Given the description of an element on the screen output the (x, y) to click on. 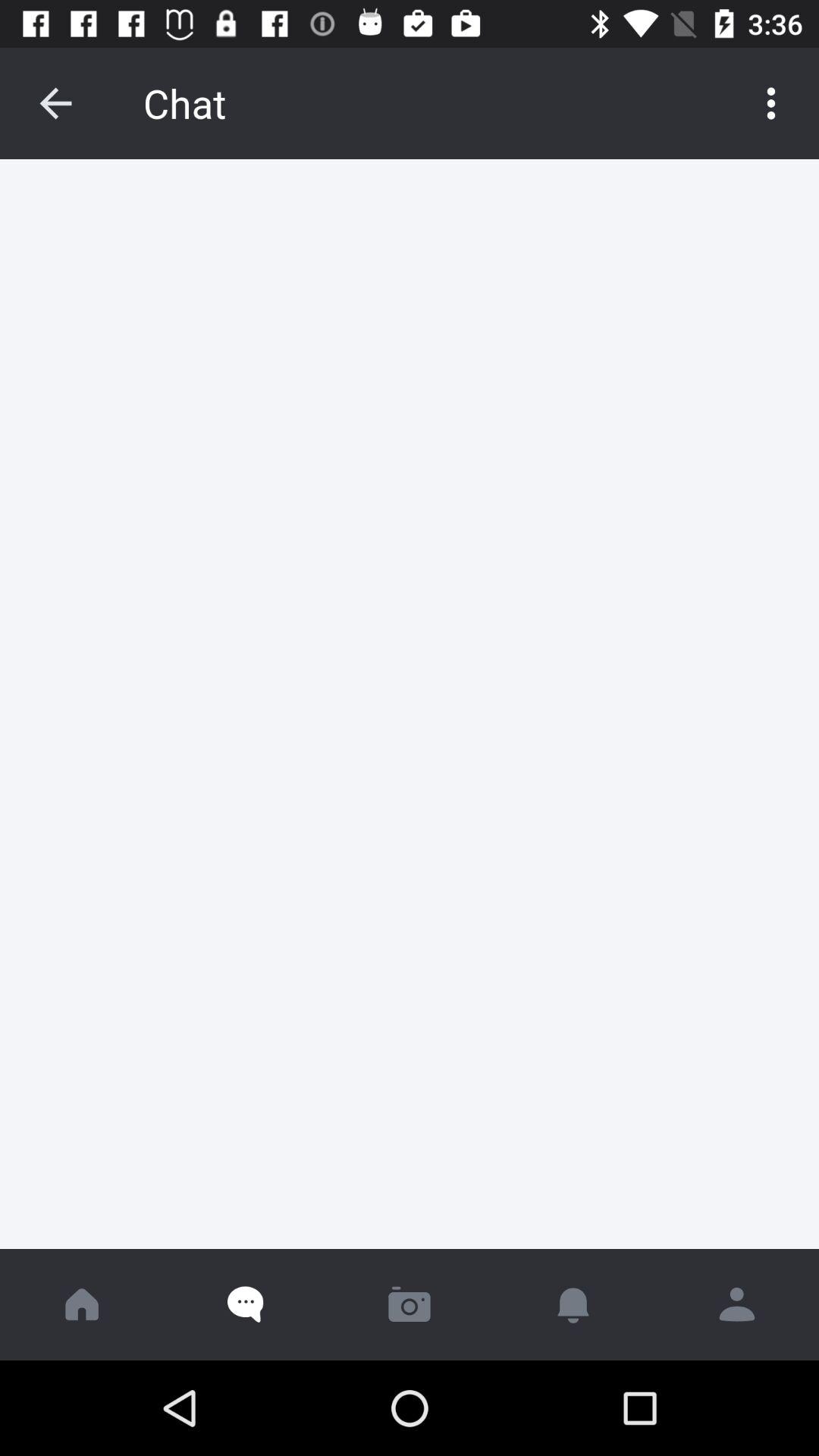
go to profile (737, 1304)
